Given the description of an element on the screen output the (x, y) to click on. 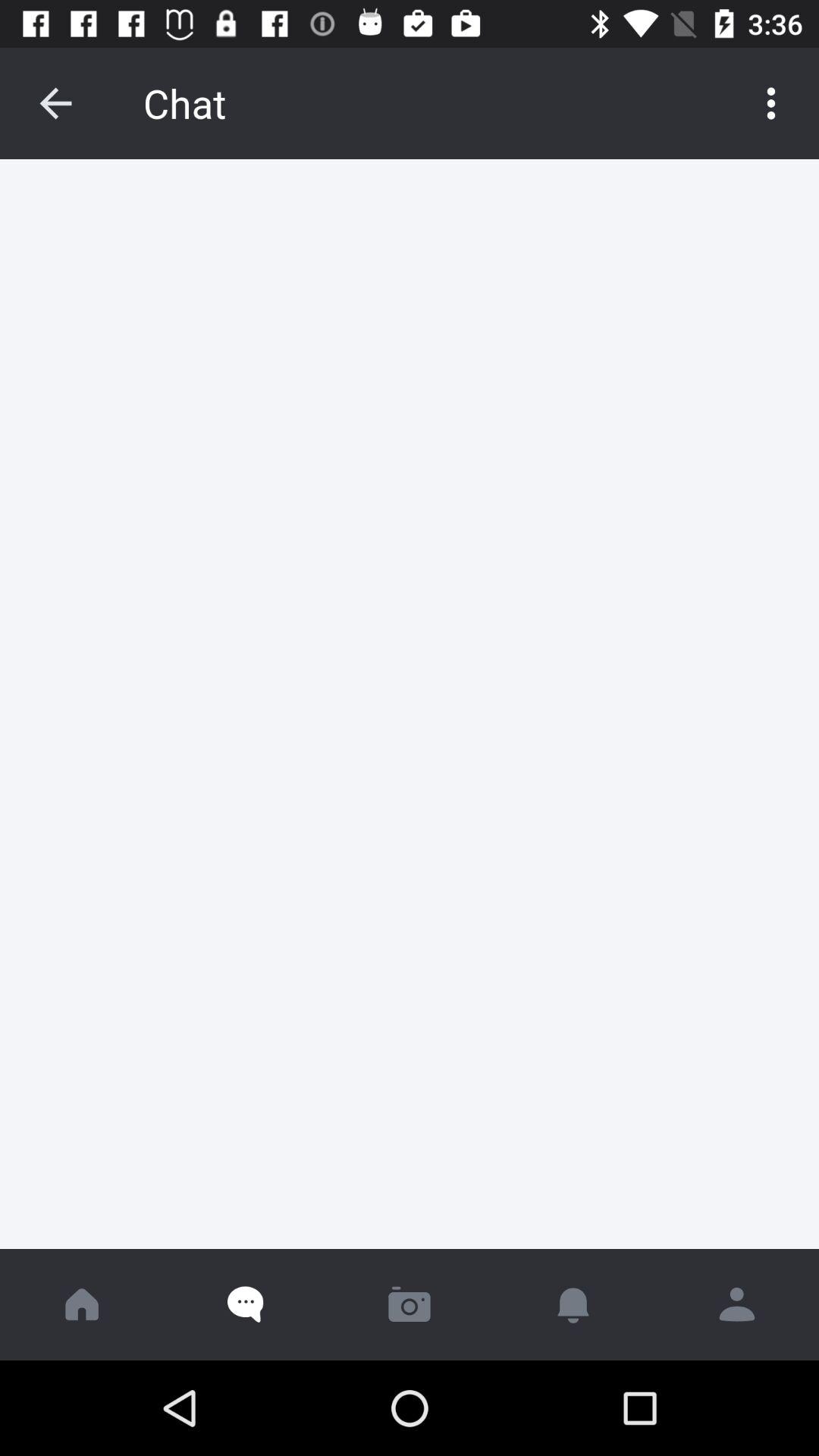
go to profile (737, 1304)
